Given the description of an element on the screen output the (x, y) to click on. 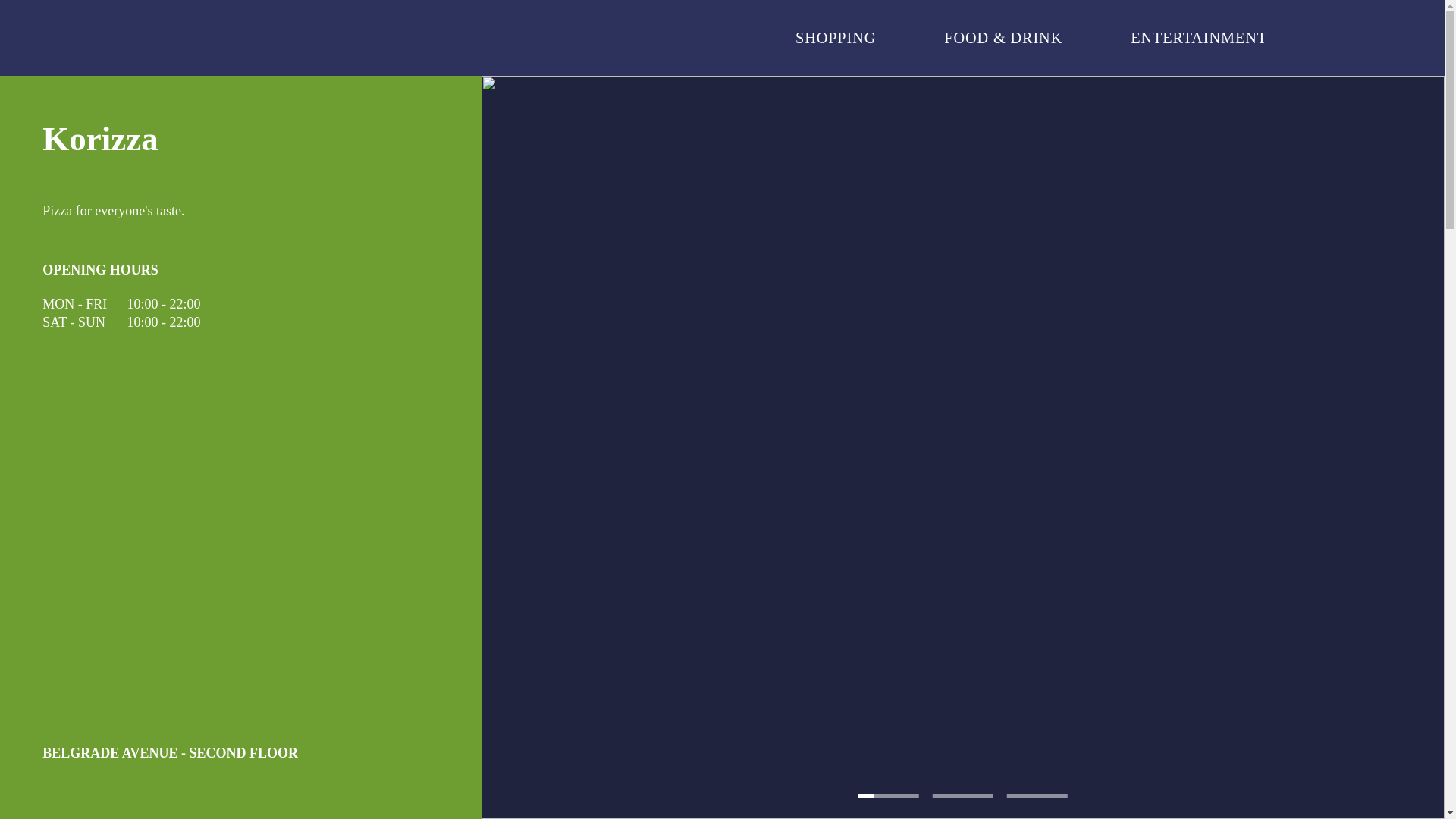
SHOPPING (835, 37)
ENTERTAINMENT (1198, 37)
